Given the description of an element on the screen output the (x, y) to click on. 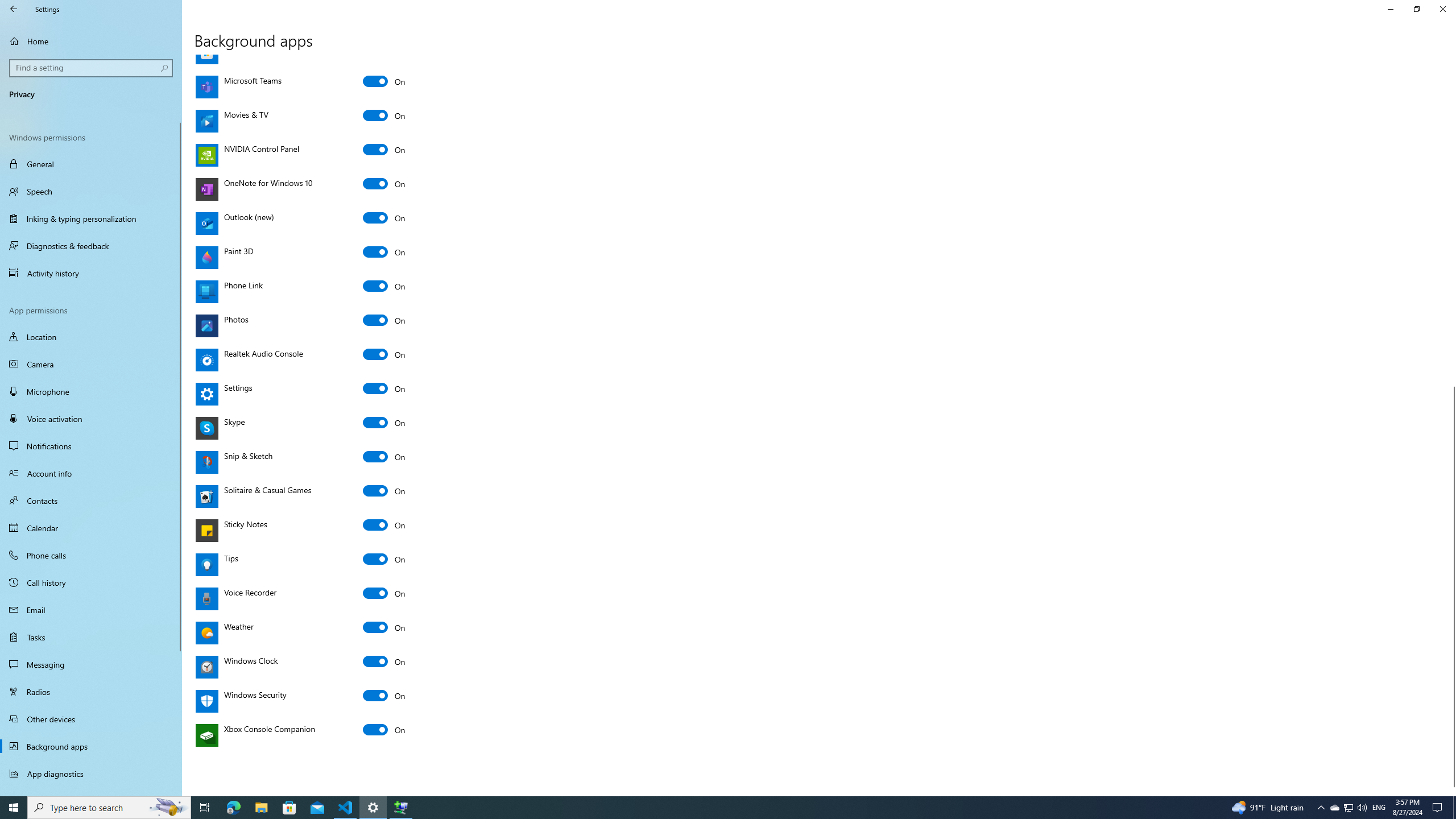
Location (91, 336)
Task View (204, 807)
Microsoft Edge (233, 807)
Search highlights icon opens search home window (167, 807)
Outlook (new) (384, 217)
Account info (91, 472)
Phone calls (91, 554)
Voice Recorder (384, 592)
OneNote for Windows 10 (384, 183)
Microsoft Store (384, 47)
Tips (384, 559)
Close Settings (1442, 9)
Extensible Wizards Host Process - 1 running window (400, 807)
Microphone (91, 390)
